Given the description of an element on the screen output the (x, y) to click on. 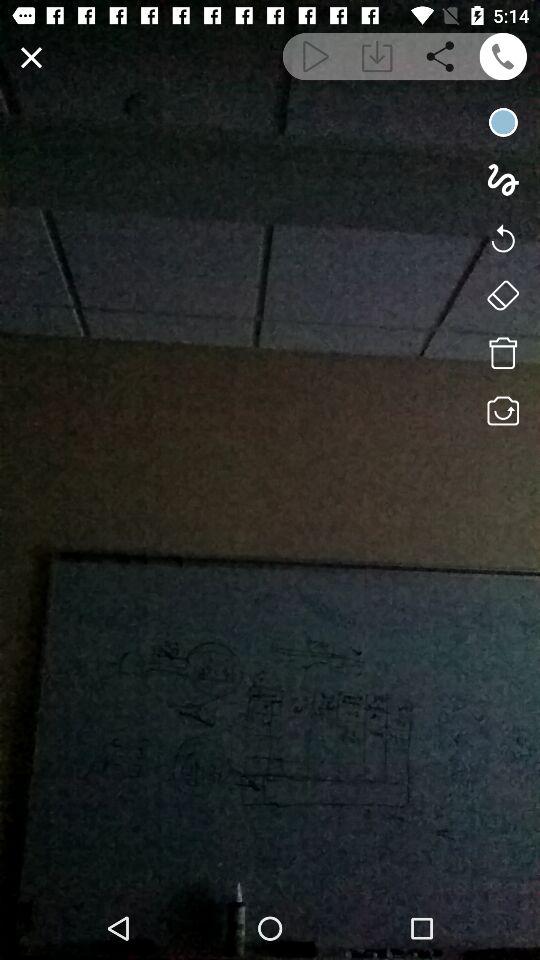
download (376, 56)
